Given the description of an element on the screen output the (x, y) to click on. 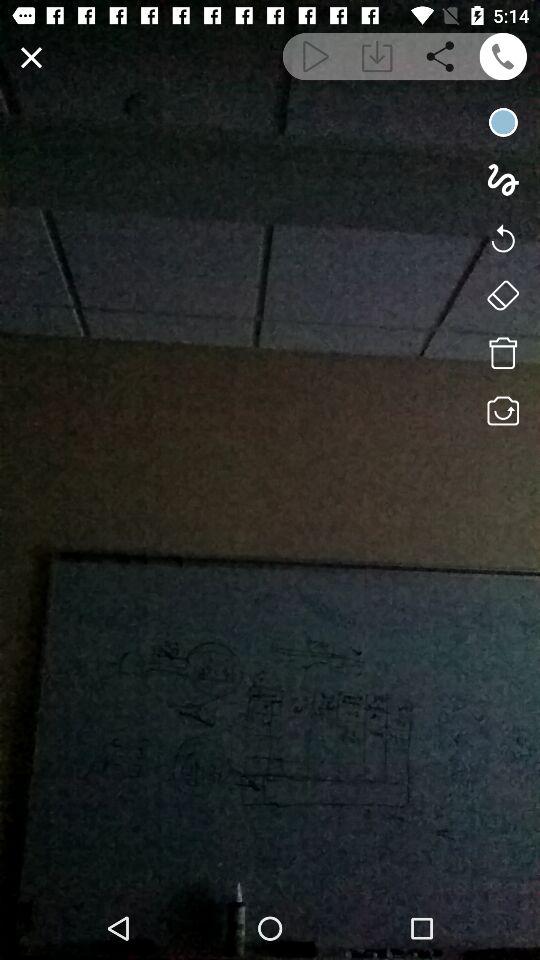
download (376, 56)
